Given the description of an element on the screen output the (x, y) to click on. 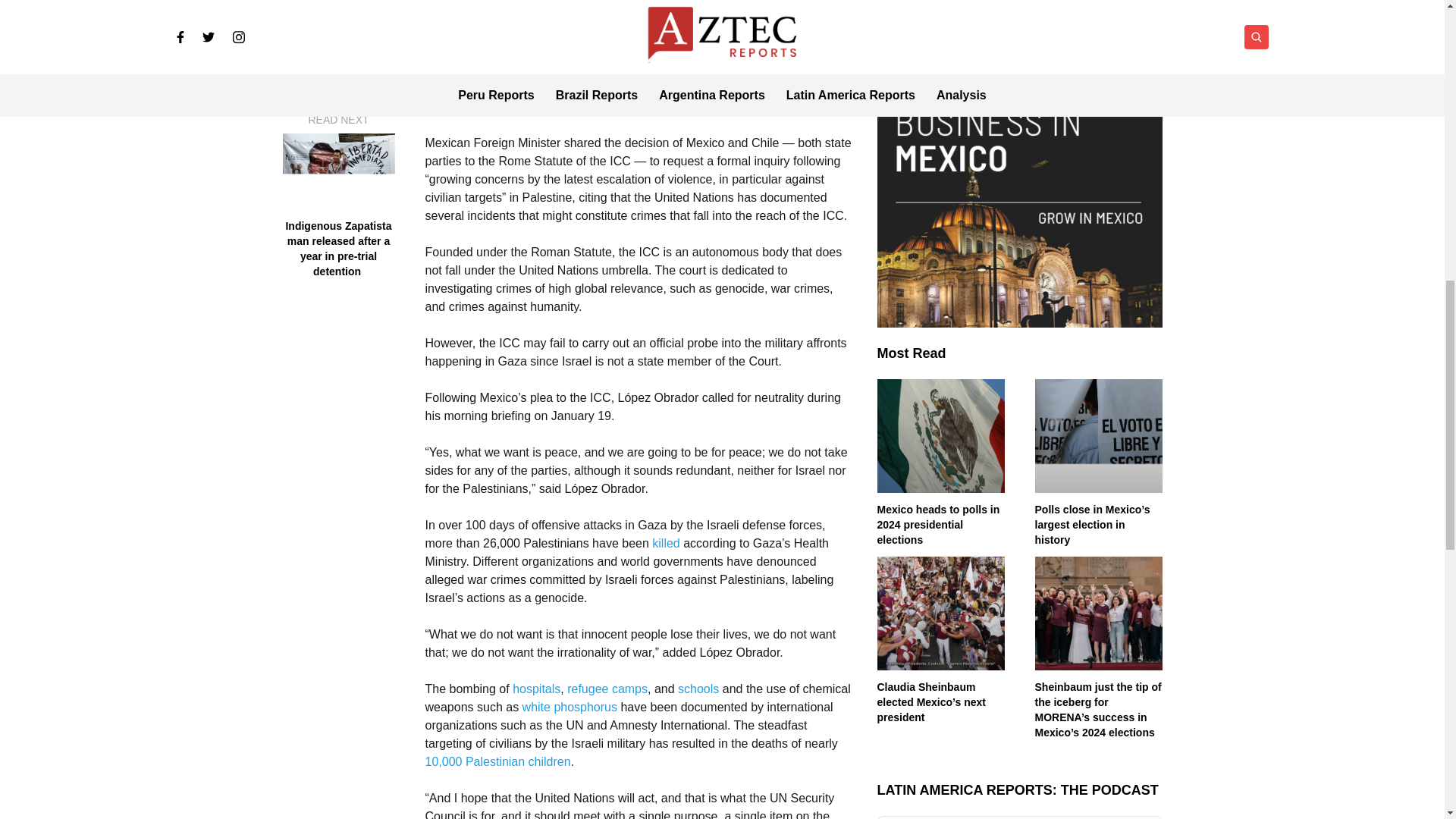
refugee camps (607, 688)
killed (665, 543)
hospitals (536, 688)
white phosphorus (569, 707)
schools (698, 688)
10,000 Palestinian children (497, 761)
